Given the description of an element on the screen output the (x, y) to click on. 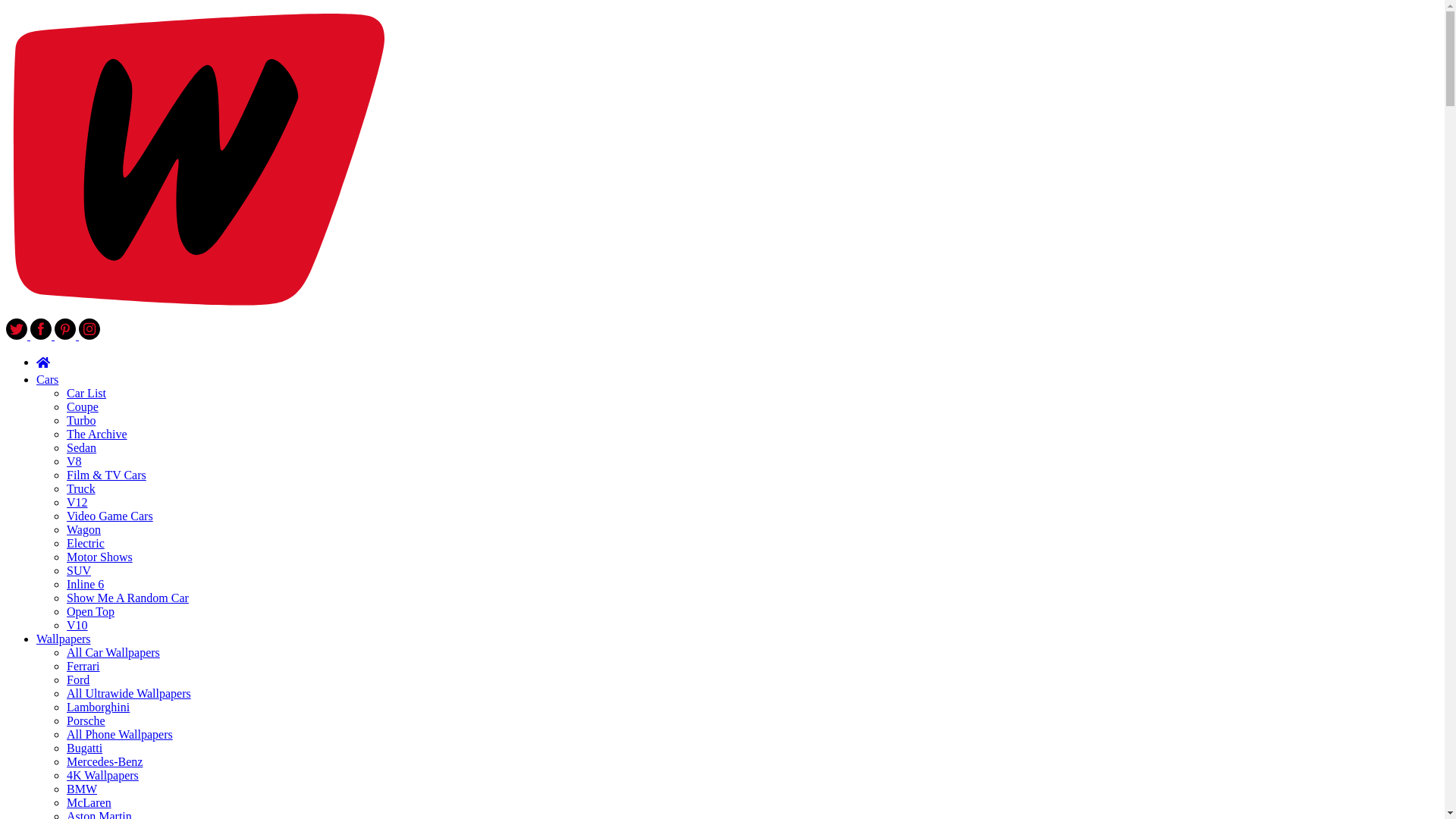
Check out our pins on Pinterest (66, 335)
Video Game Cars (109, 515)
Turbo (81, 420)
Coupe (82, 406)
Show Me A Random Car (127, 597)
Wagon (83, 529)
Ferrari (83, 666)
All Ultrawide Wallpapers (128, 693)
Sedan (81, 447)
Open Top (90, 611)
Motor Shows (99, 556)
McLaren (89, 802)
V10 (76, 625)
Wallpapers (63, 638)
Porsche (85, 720)
